Given the description of an element on the screen output the (x, y) to click on. 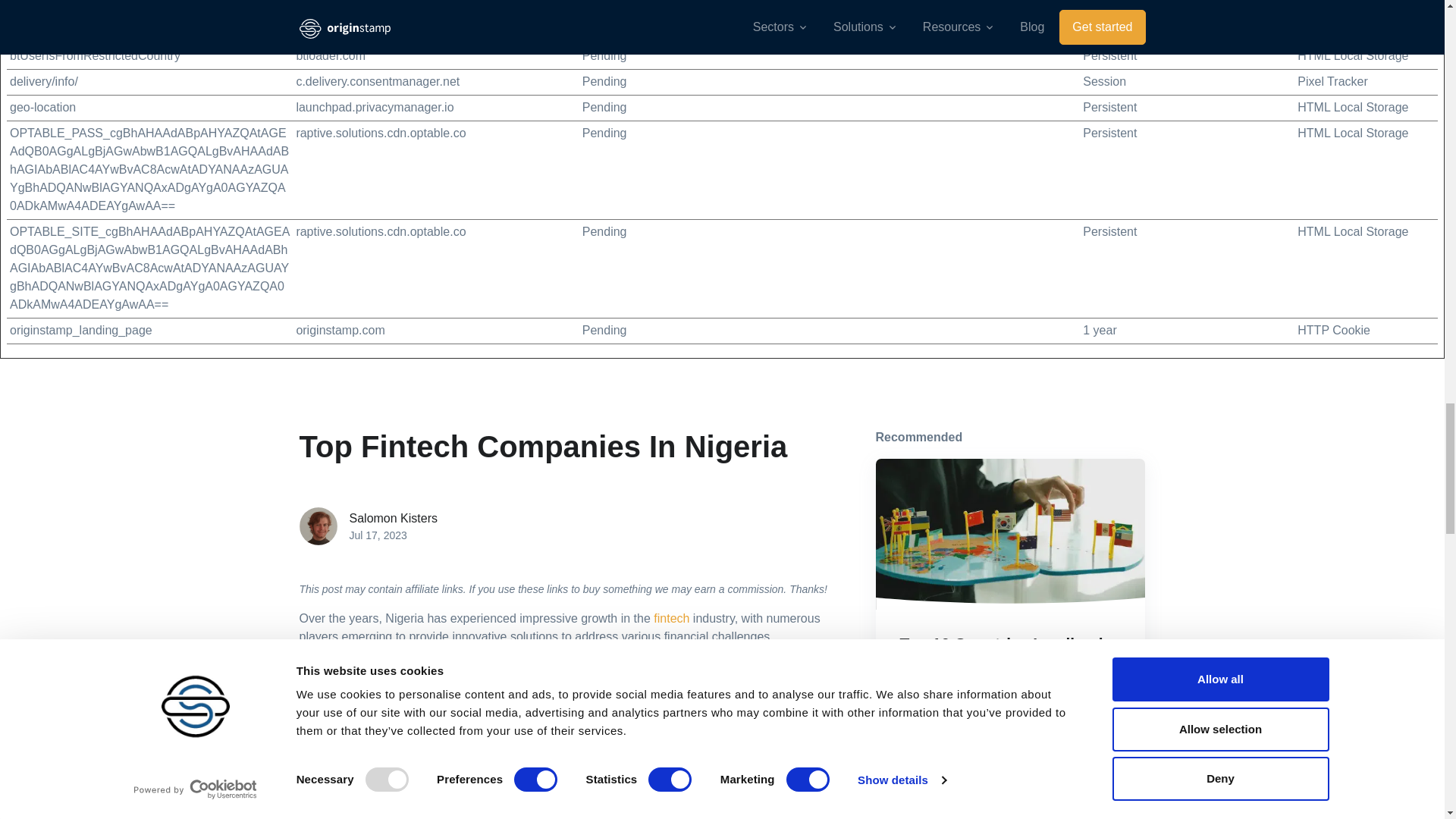
Adthrive (317, 5)
